Given the description of an element on the screen output the (x, y) to click on. 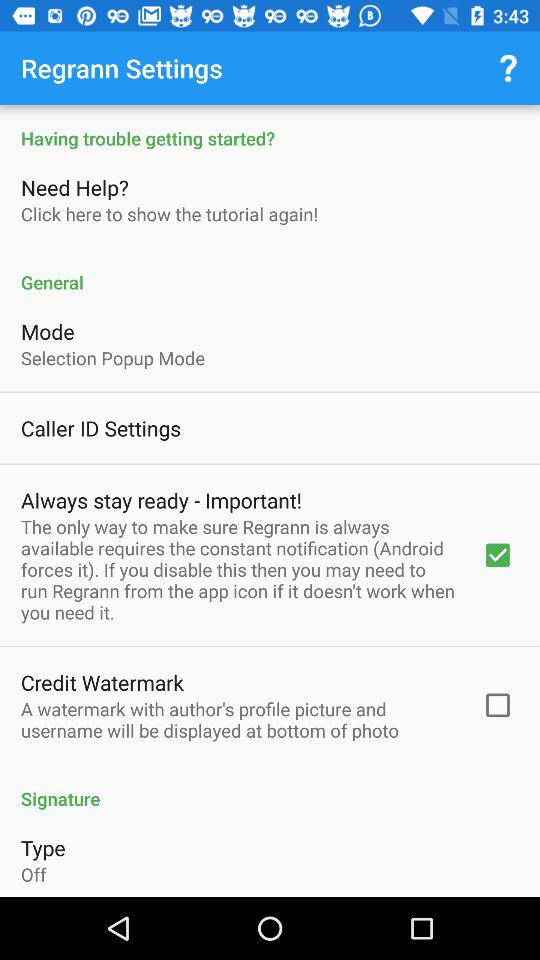
click on the white tick in green background (497, 554)
click on icon next to regrann settings at the right topmost corner of the page (508, 68)
